Given the description of an element on the screen output the (x, y) to click on. 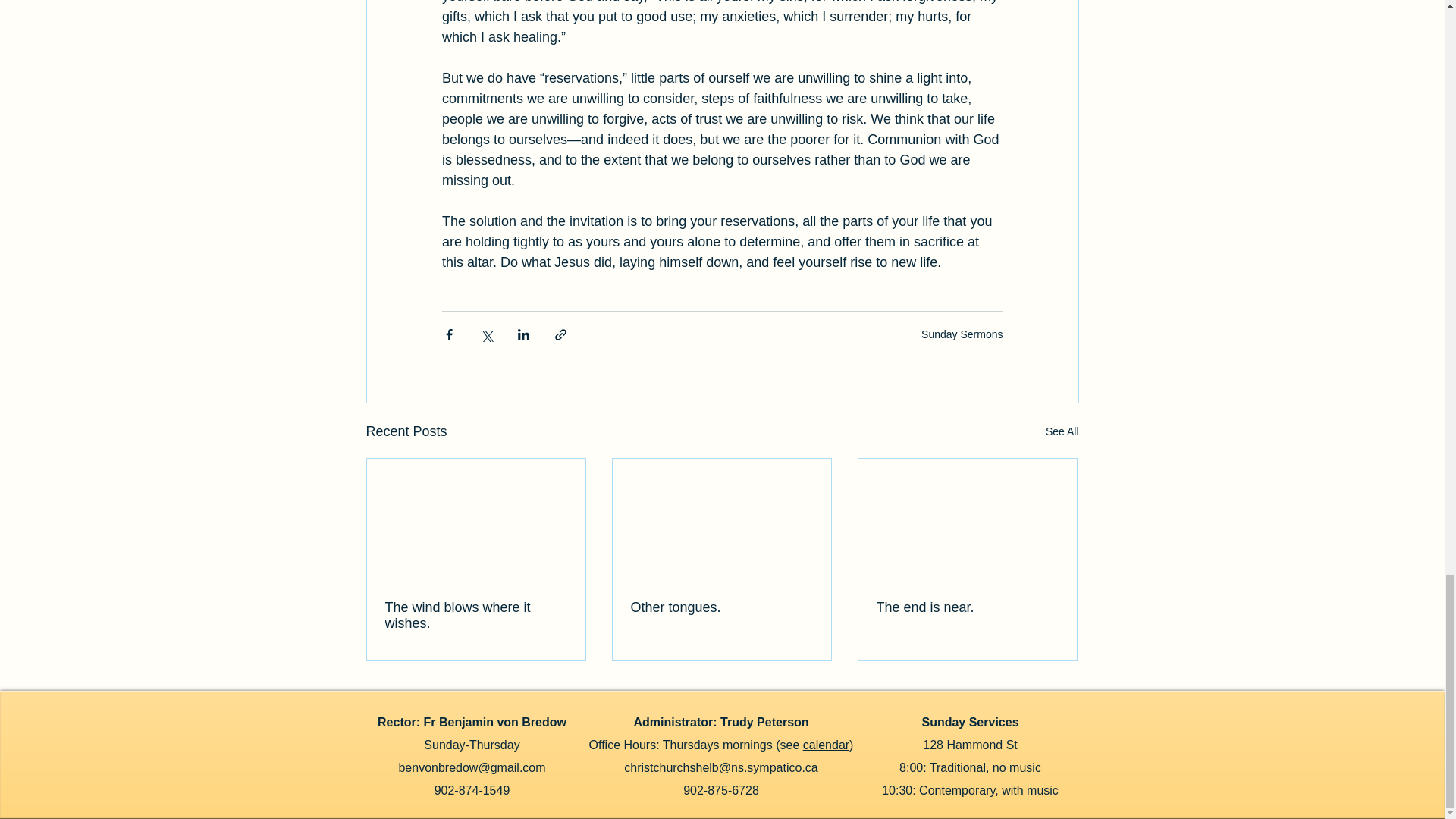
Other tongues. (721, 607)
The end is near. (967, 607)
Sunday Sermons (962, 333)
See All (1061, 431)
calendar (825, 744)
The wind blows where it wishes. (476, 615)
